Given the description of an element on the screen output the (x, y) to click on. 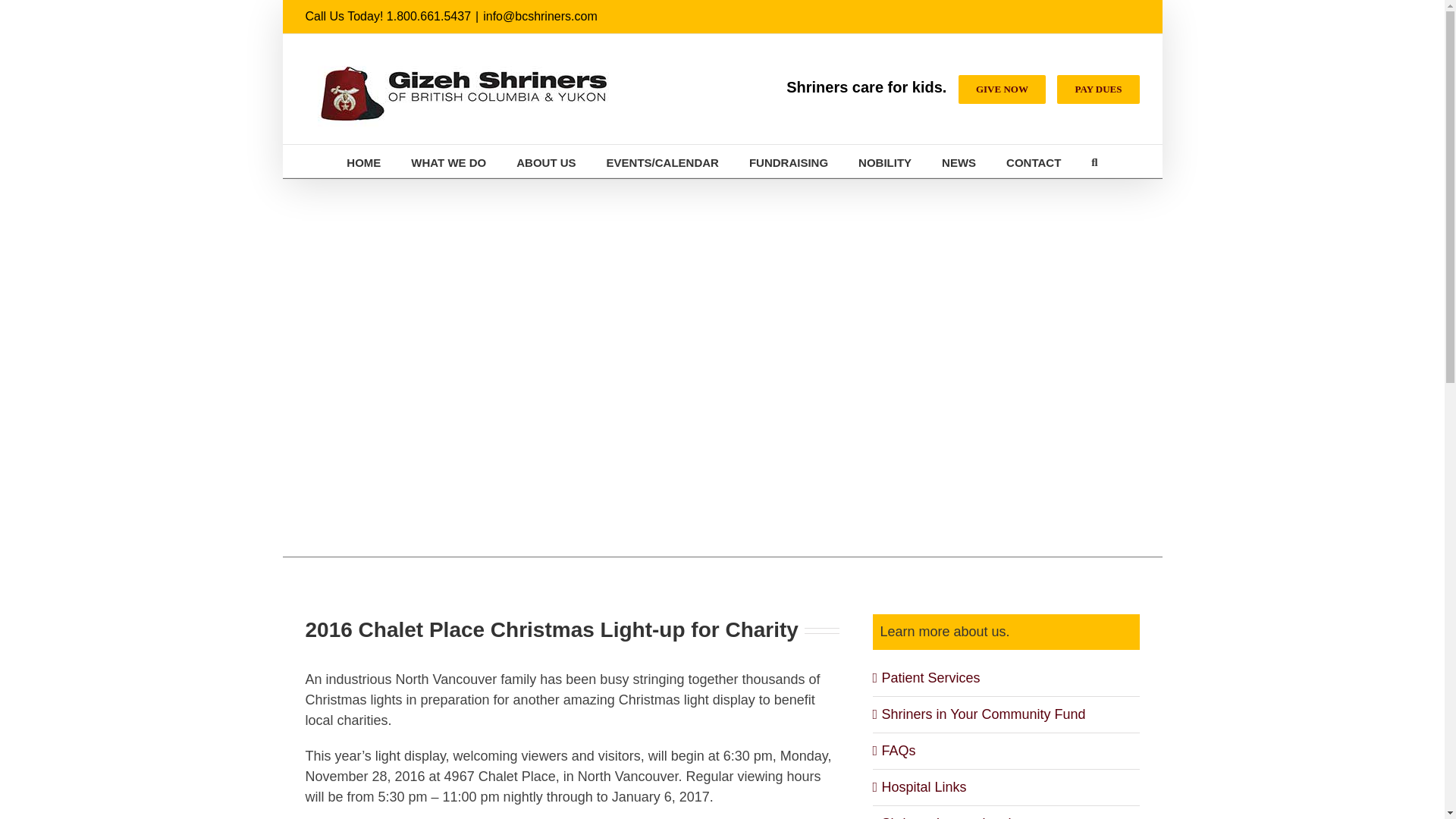
FUNDRAISING (788, 160)
WHAT WE DO (448, 160)
PAY DUES (1097, 88)
NEWS (958, 160)
GIVE NOW (1001, 88)
HOME (363, 160)
ABOUT US (545, 160)
NOBILITY (885, 160)
